Given the description of an element on the screen output the (x, y) to click on. 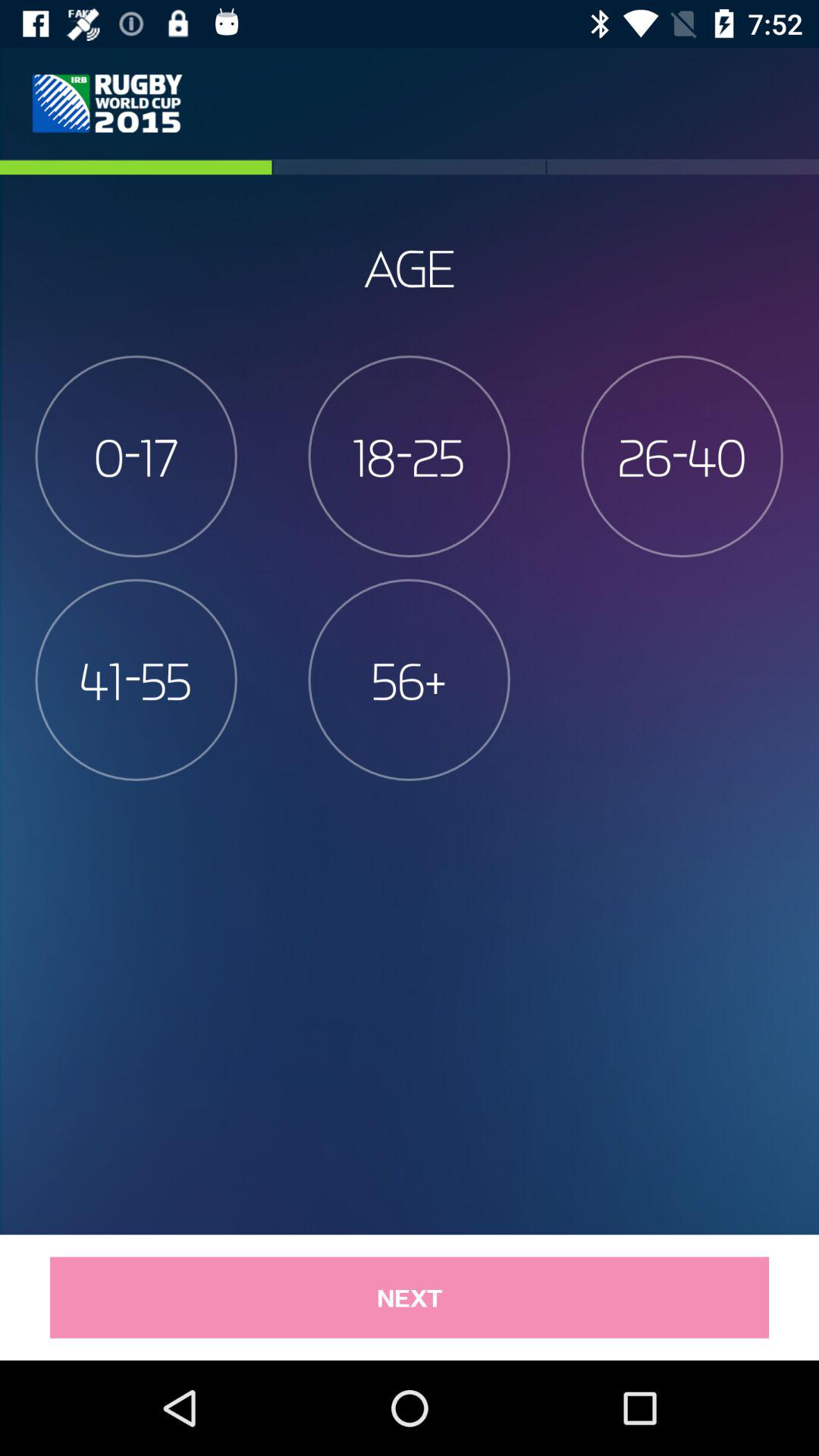
open next (409, 1297)
